Given the description of an element on the screen output the (x, y) to click on. 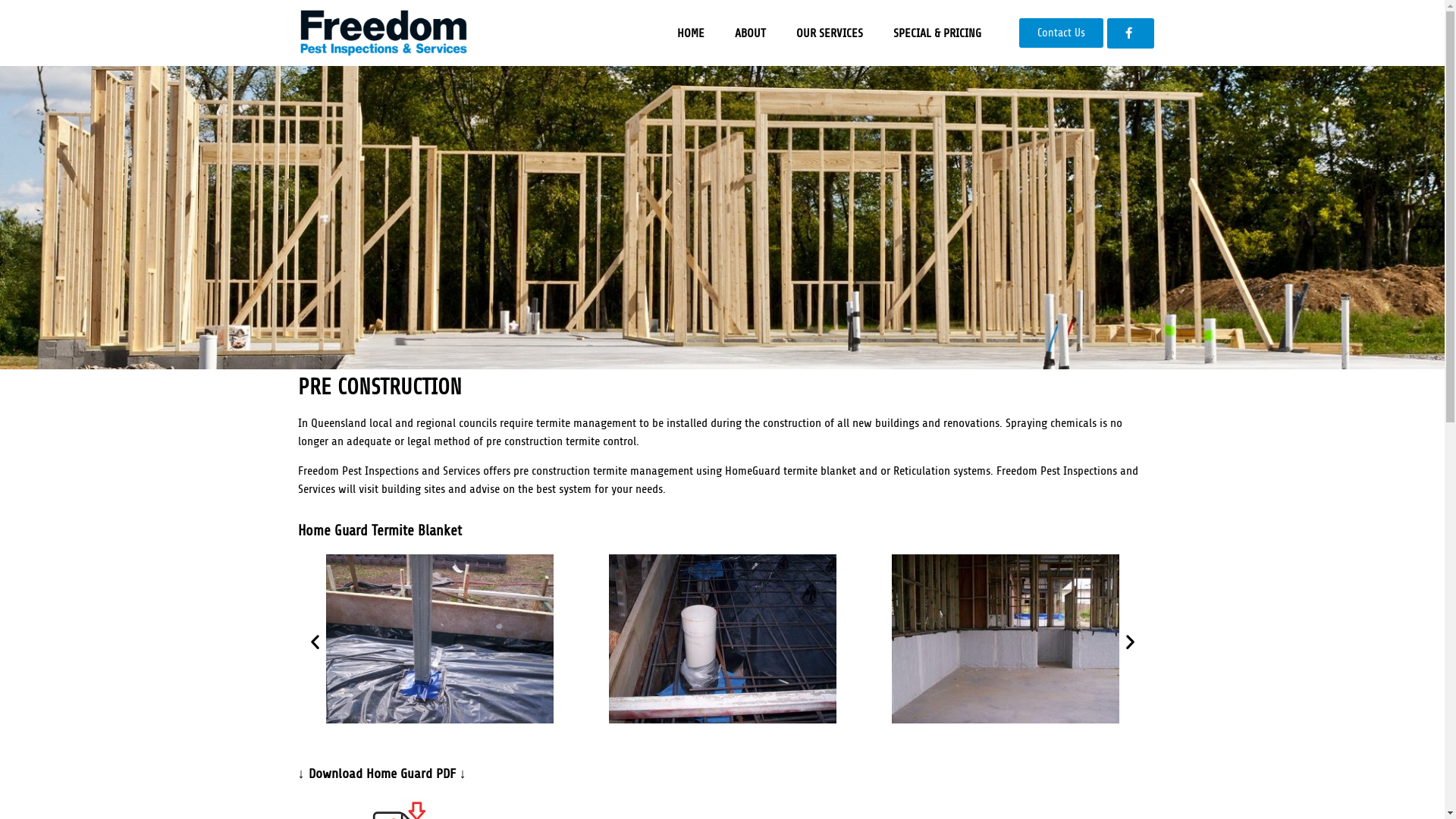
ABOUT Element type: text (750, 32)
HOME Element type: text (690, 32)
Contact Us Element type: text (1061, 32)
OUR SERVICES Element type: text (829, 32)
SPECIAL & PRICING Element type: text (937, 32)
